Given the description of an element on the screen output the (x, y) to click on. 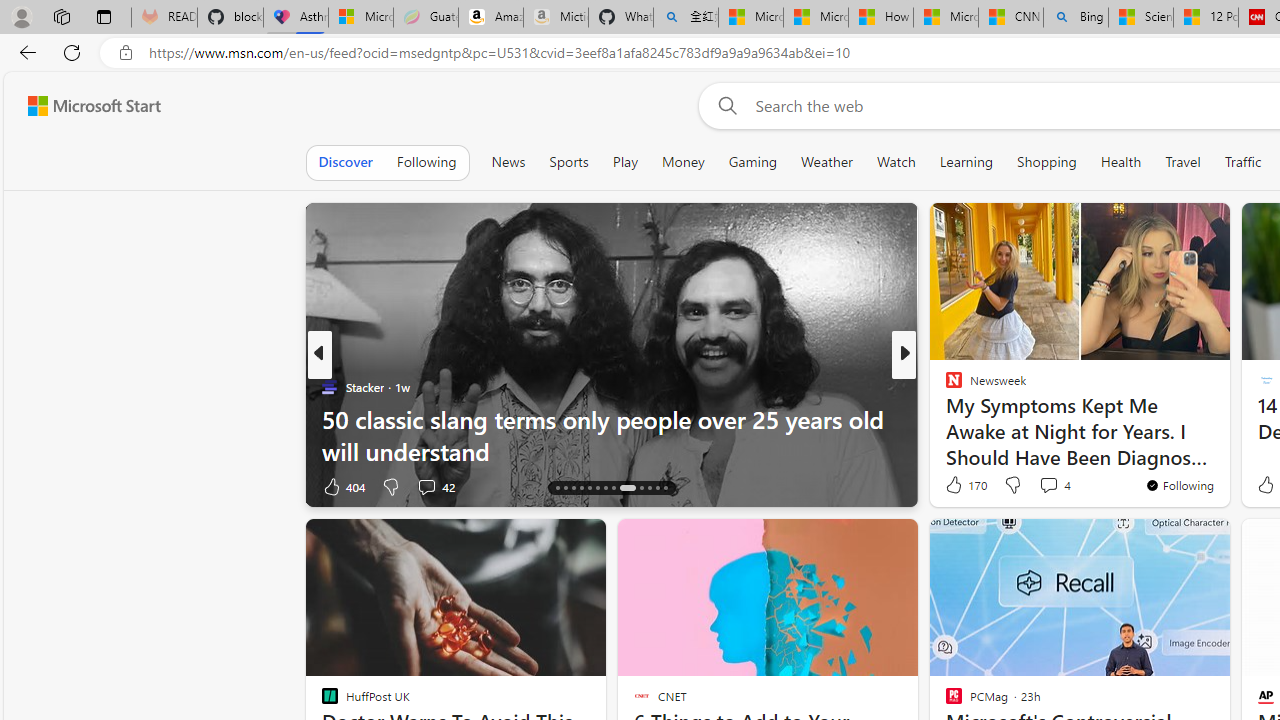
AutomationID: tab-23 (641, 487)
AutomationID: tab-16 (573, 487)
AutomationID: tab-20 (605, 487)
Hide this story (1169, 542)
236 Like (959, 486)
You're following Newsweek (1179, 485)
View comments 5 Comment (1041, 486)
AutomationID: tab-21 (613, 487)
